Given the description of an element on the screen output the (x, y) to click on. 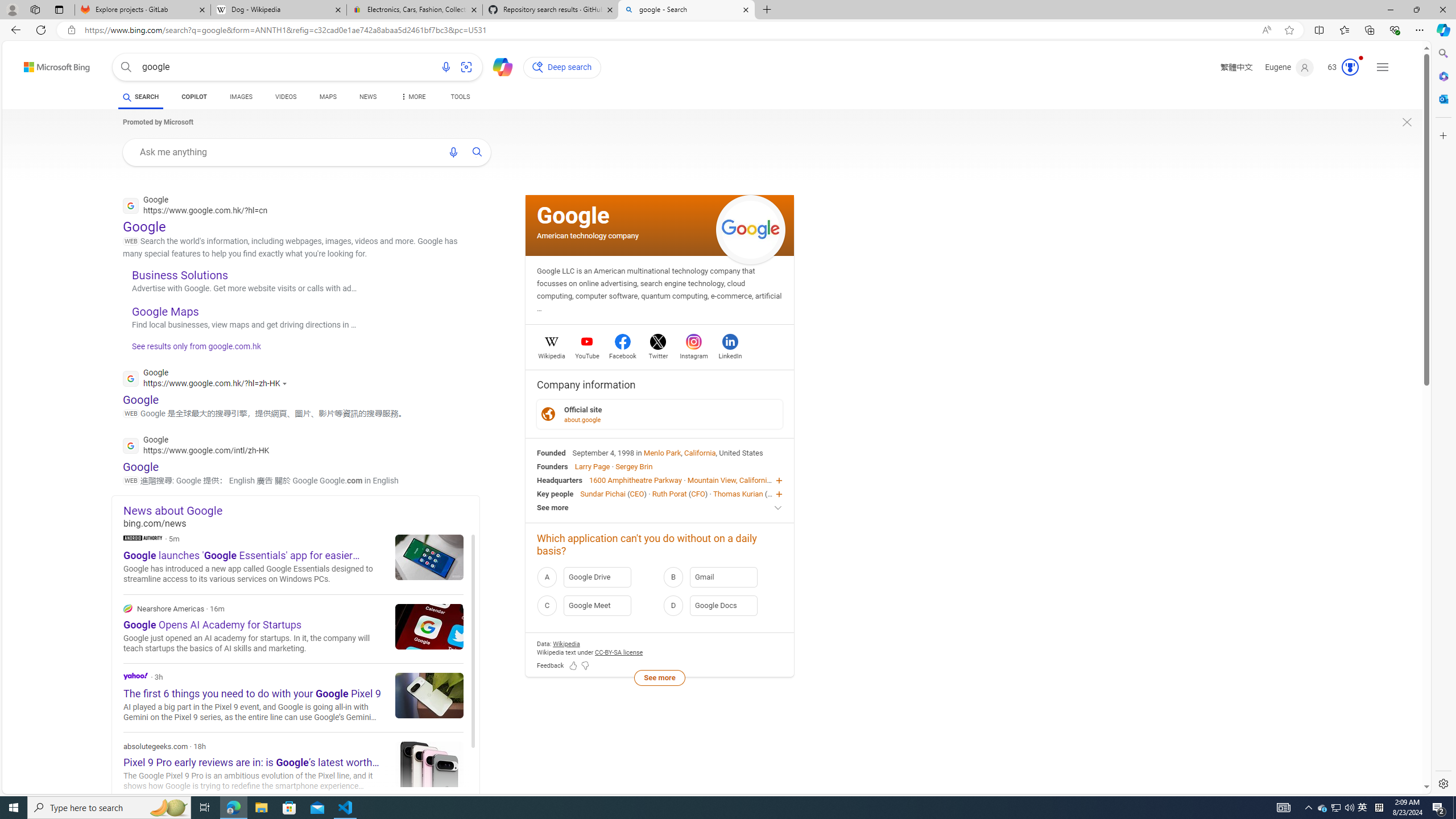
Actions for this site (286, 383)
Chat (497, 65)
Sergey Brin (633, 465)
Search more (1400, 753)
Data attribution Wikipedia (566, 643)
YouTube (587, 354)
CFO (697, 492)
TOOLS (460, 98)
